Given the description of an element on the screen output the (x, y) to click on. 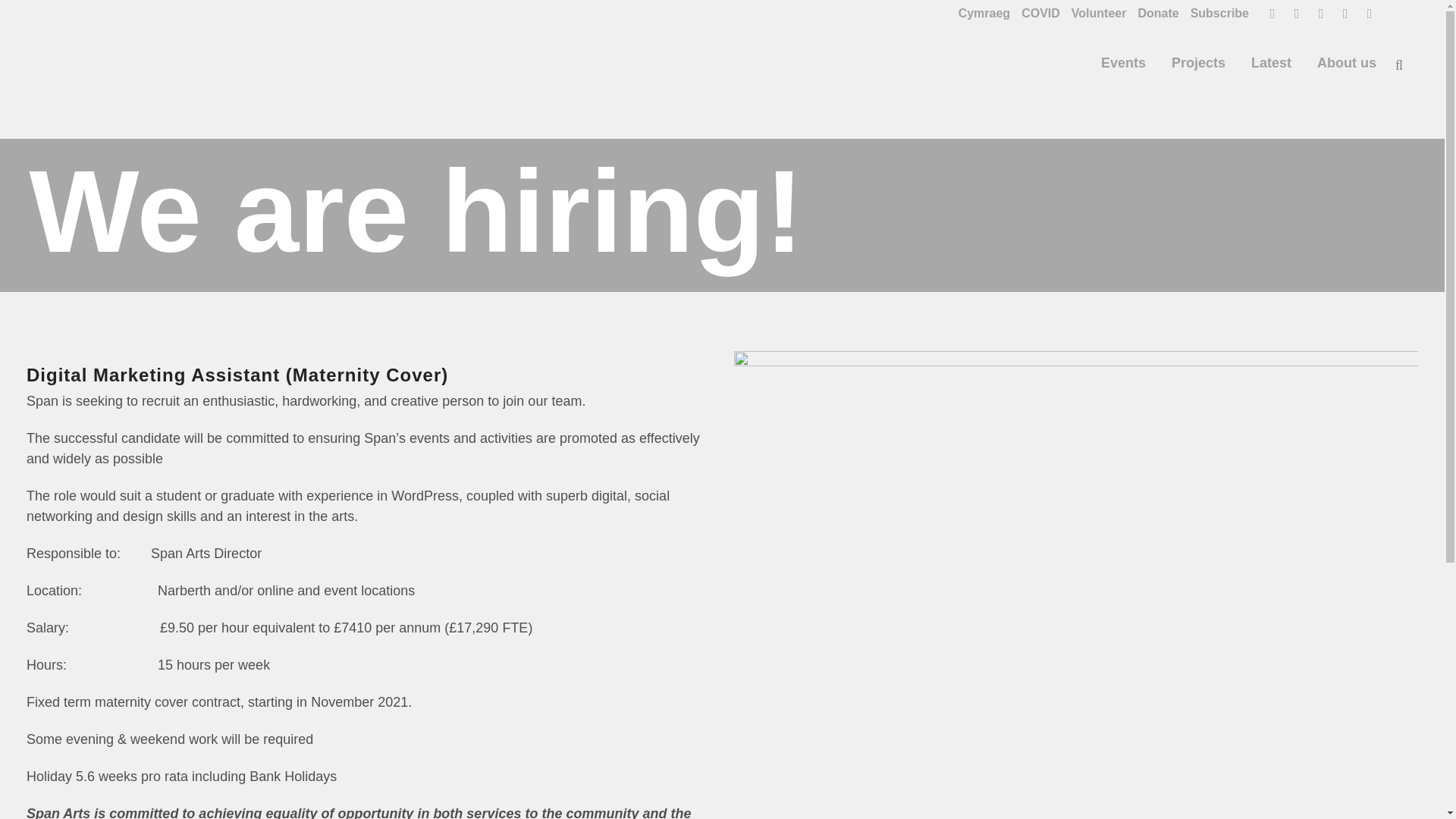
COVID (1034, 12)
Cymraeg (978, 12)
Projects (1198, 62)
Volunteer (1092, 12)
Events (1122, 62)
Cymraeg (978, 12)
Subscribe (1214, 12)
About us (1346, 62)
Donate (1151, 12)
